Given the description of an element on the screen output the (x, y) to click on. 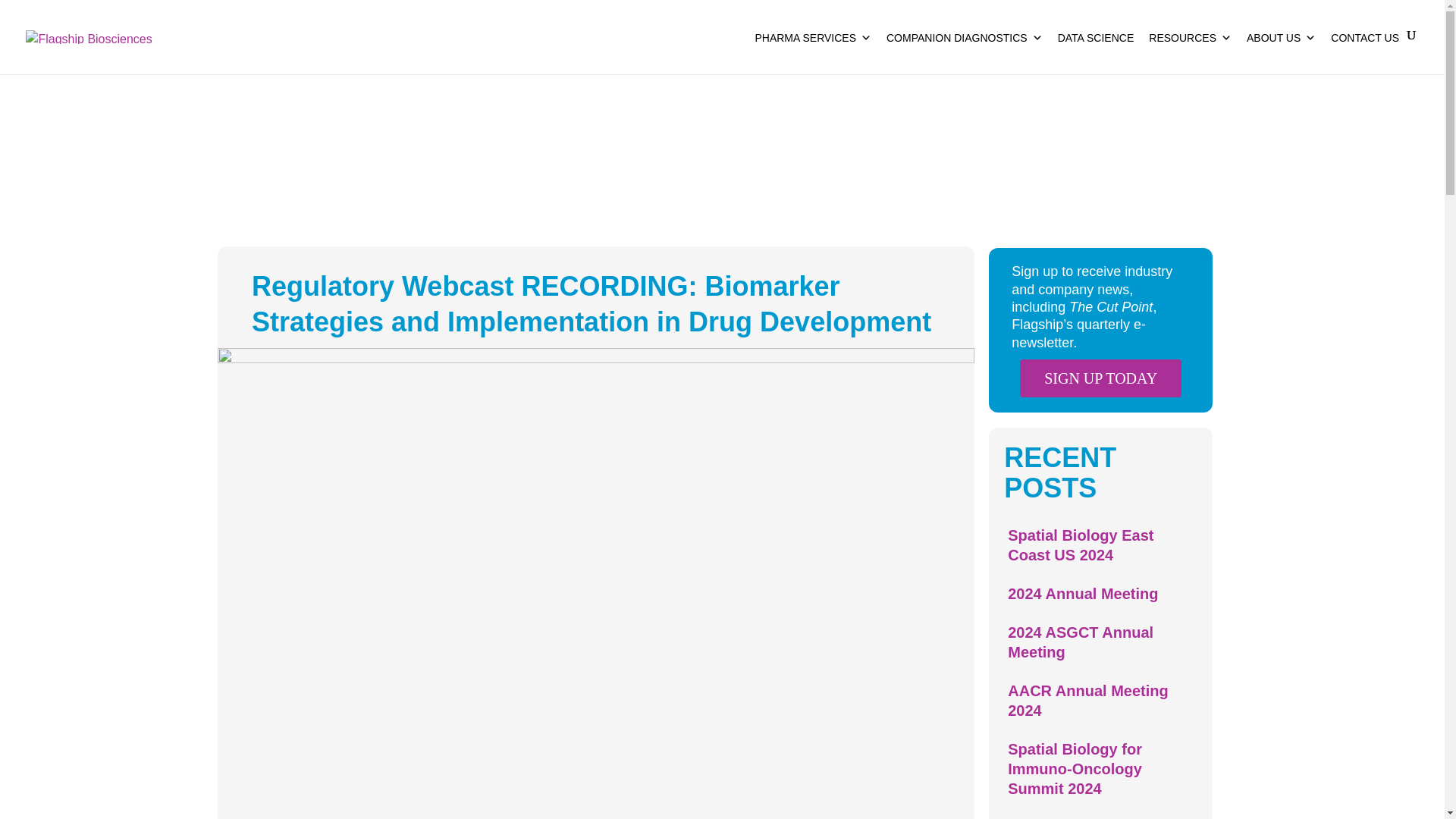
EVENTS (301, 136)
Spatial Biology for Immuno-Oncology Summit 2024 (1074, 768)
COMPANION DIAGNOSTICS (964, 51)
2024 Annual Meeting (1082, 593)
RESOURCES (1190, 51)
DATA SCIENCE (1095, 51)
ABOUT US (1281, 51)
PHARMA SERVICES (812, 51)
CONTACT US (1364, 51)
AACR Annual Meeting 2024 (1087, 700)
2024 ASGCT Annual Meeting (1080, 642)
Spatial Biology East Coast US 2024 (1080, 545)
SIGN UP TODAY (1100, 378)
